Given the description of an element on the screen output the (x, y) to click on. 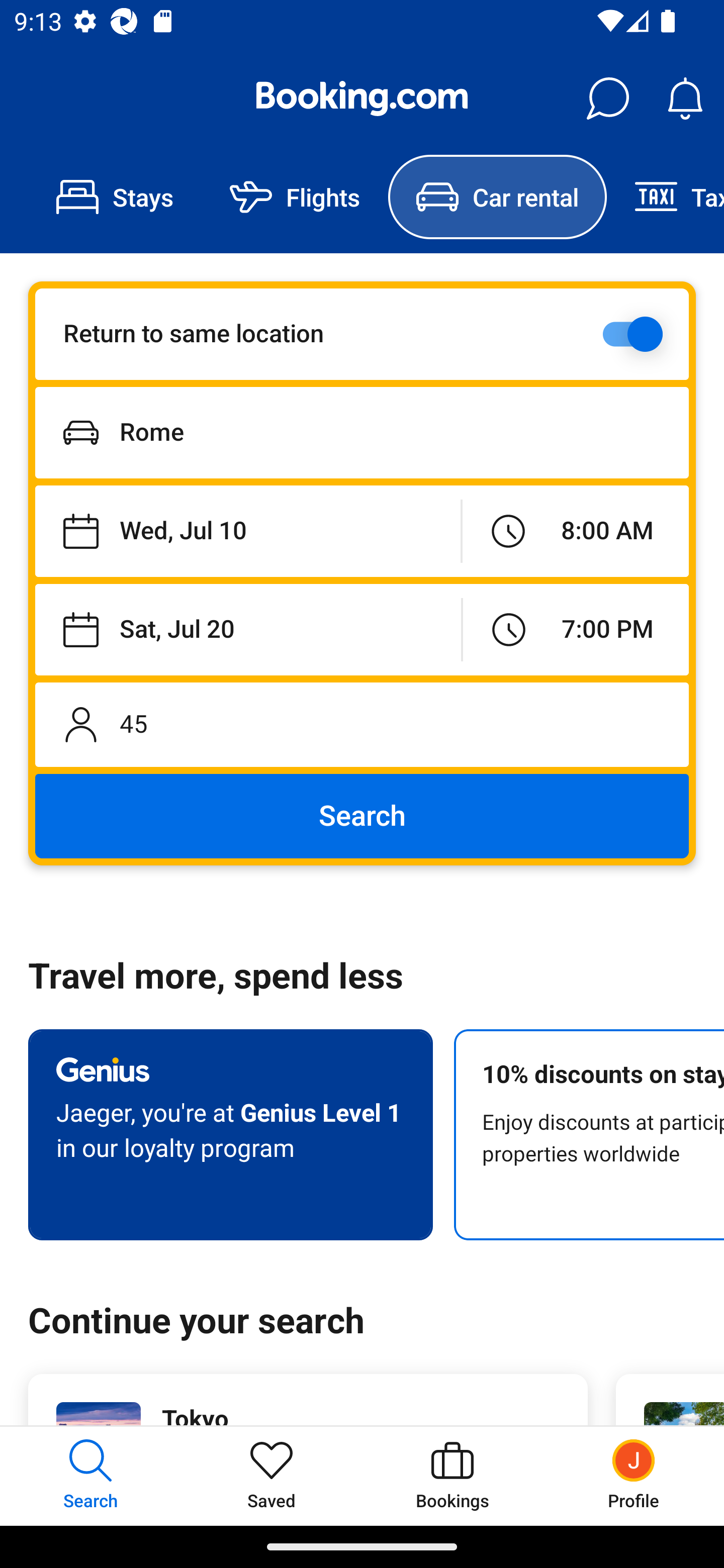
Messages (607, 98)
Notifications (685, 98)
Stays (114, 197)
Flights (294, 197)
Car rental (497, 197)
Taxi (665, 197)
Pick-up location: Text(name=Rome) (361, 432)
Pick-up date: 2024-07-10 (247, 531)
Pick-up time: 08:00:00.000 (575, 531)
Drop-off date: 2024-07-20 (248, 629)
Drop-off time: 19:00:00.000 (575, 629)
Driver's age: 45 (361, 724)
Search (361, 815)
Saved (271, 1475)
Bookings (452, 1475)
Profile (633, 1475)
